Given the description of an element on the screen output the (x, y) to click on. 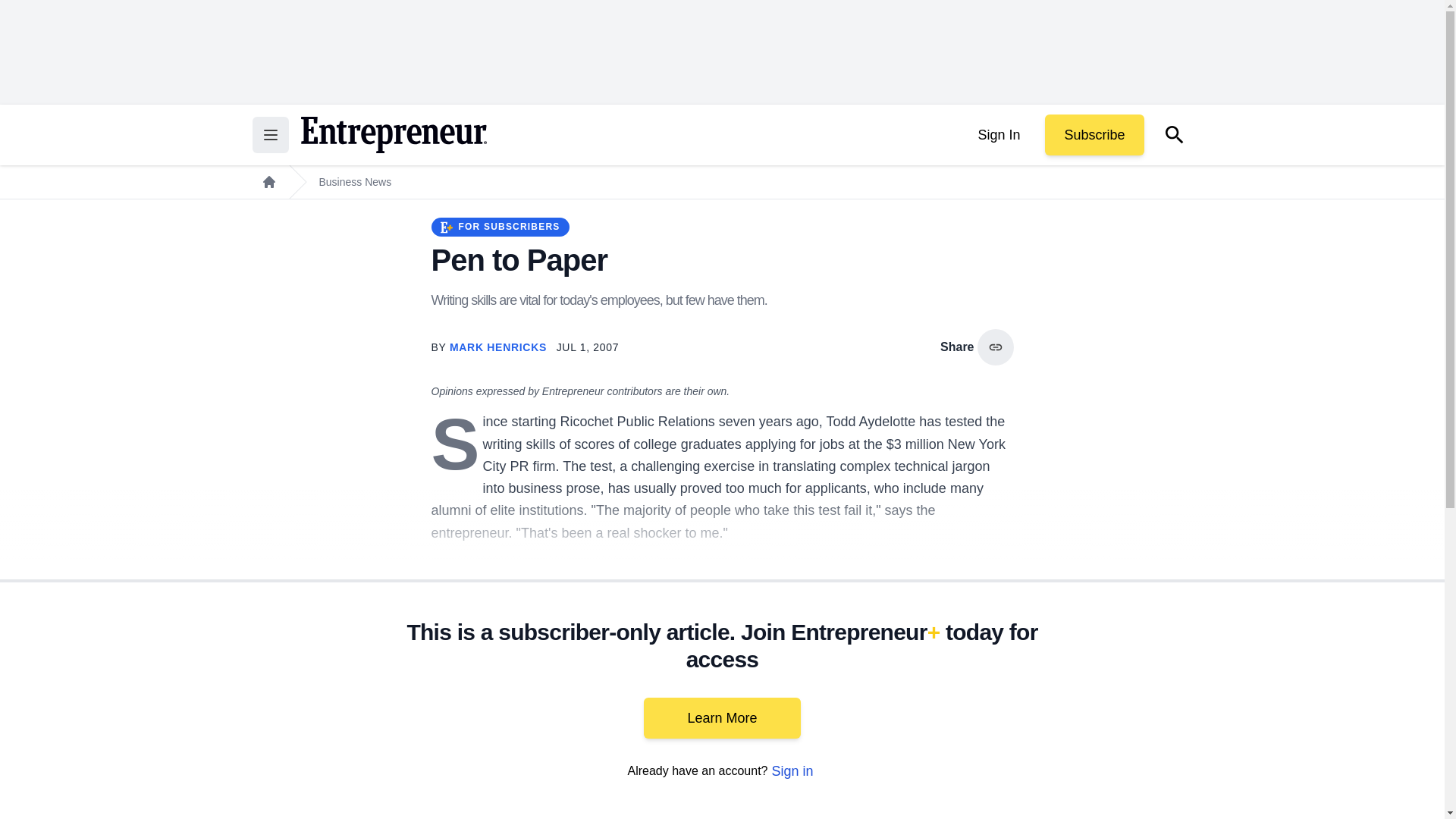
copy (994, 347)
Return to the home page (392, 135)
Sign In (998, 134)
Subscribe (1093, 134)
